Given the description of an element on the screen output the (x, y) to click on. 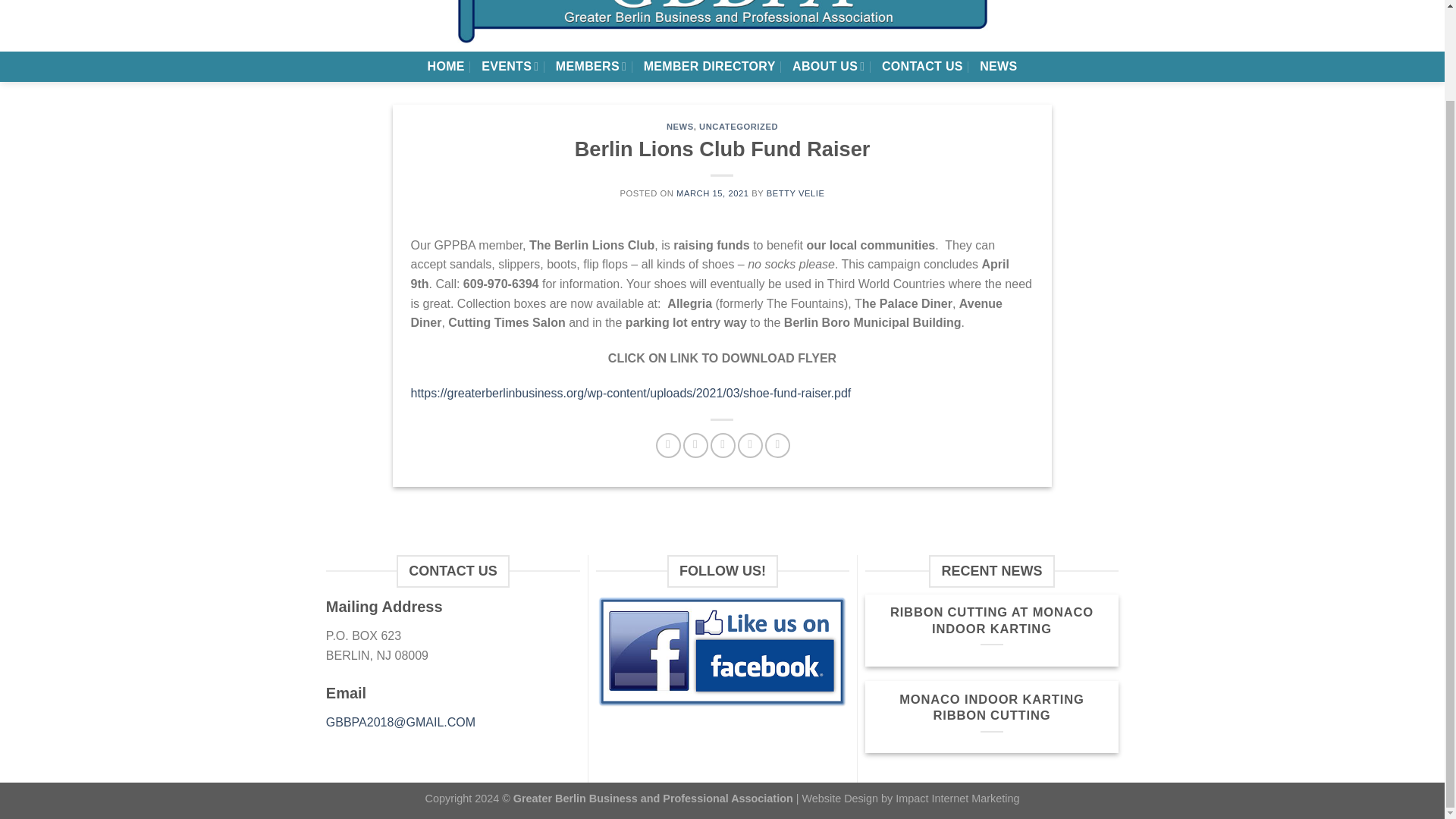
RIBBON CUTTING AT MONACO INDOOR KARTING (992, 620)
Email to a Friend (722, 445)
HOME (446, 66)
EVENTS (509, 66)
Website Design (840, 798)
UNCATEGORIZED (737, 126)
MEMBER DIRECTORY (709, 66)
NEWS (680, 126)
Greater Berlin Business Association (722, 22)
BETTY VELIE (796, 193)
Share on Twitter (694, 445)
Pin on Pinterest (750, 445)
CONTACT US (922, 66)
MEMBERS (591, 66)
NEWS (997, 66)
